Given the description of an element on the screen output the (x, y) to click on. 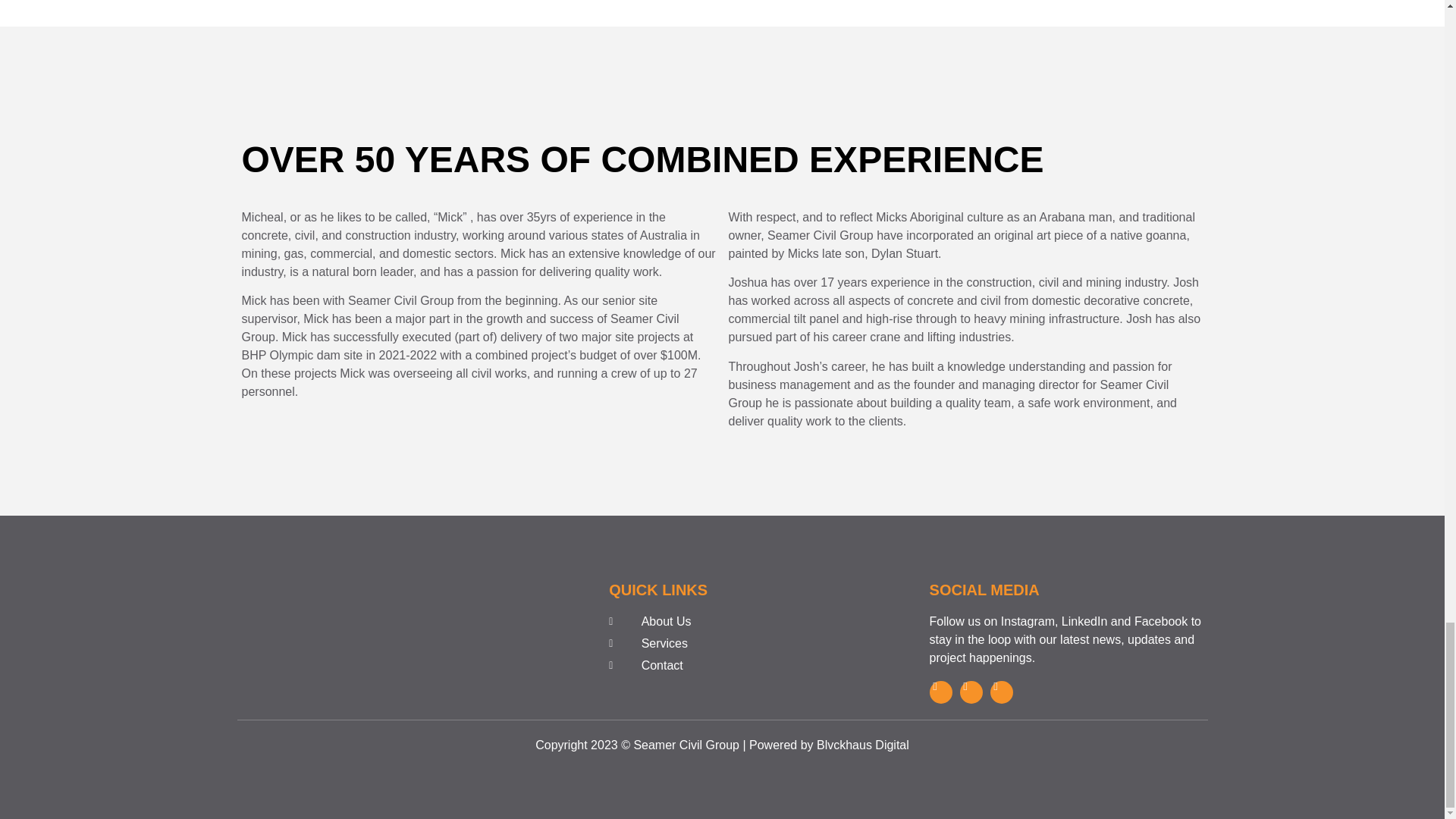
About Us (744, 621)
Blvckhaus Digital (862, 744)
Services (744, 643)
Contact (744, 665)
